Given the description of an element on the screen output the (x, y) to click on. 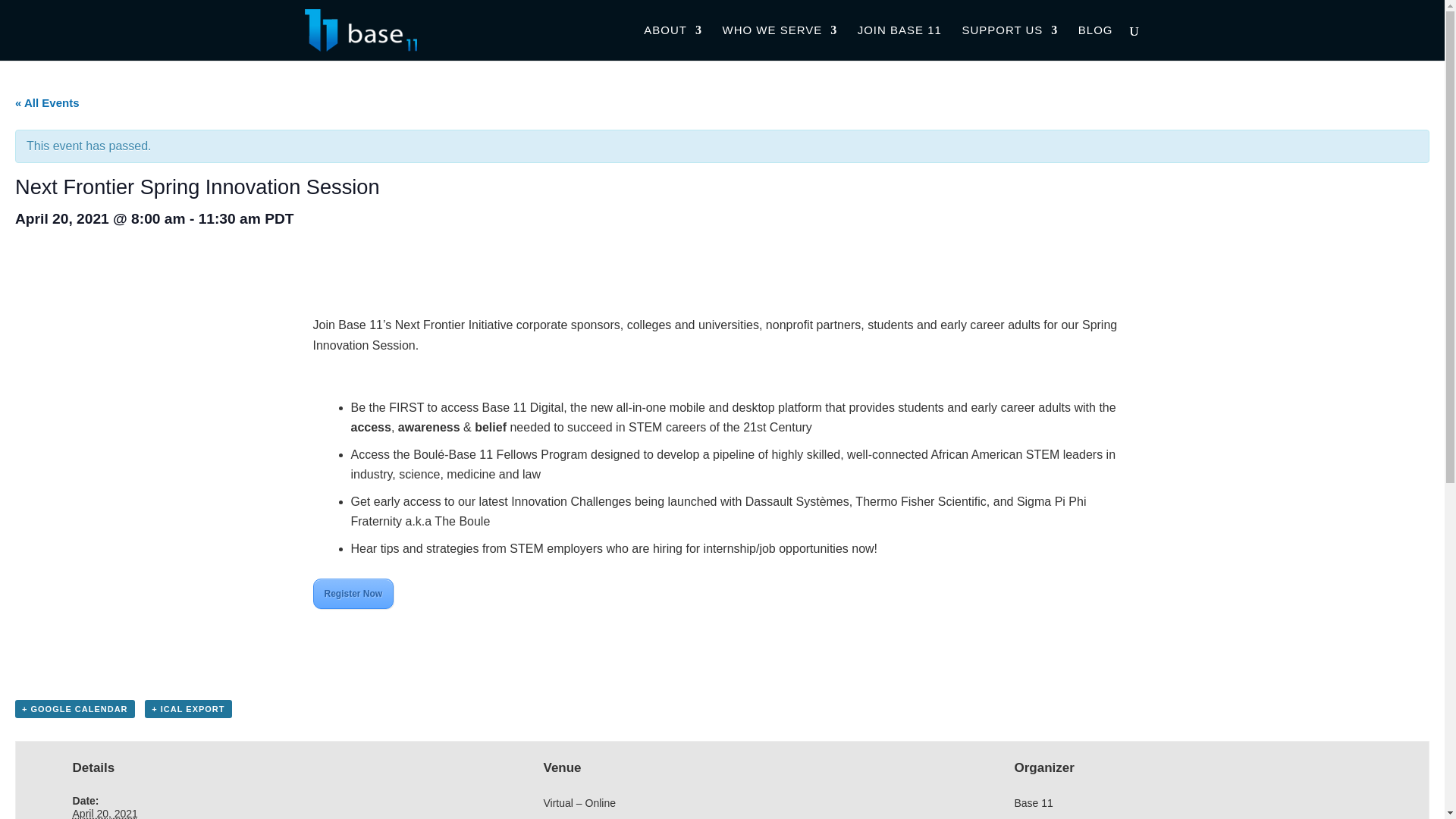
Add to Google Calendar (74, 709)
Download .ics file (187, 709)
SUPPORT US (1009, 42)
BLOG (1095, 42)
2021-04-20 (105, 813)
ABOUT (672, 42)
JOIN BASE 11 (899, 42)
WHO WE SERVE (779, 42)
Register Now (353, 593)
